Given the description of an element on the screen output the (x, y) to click on. 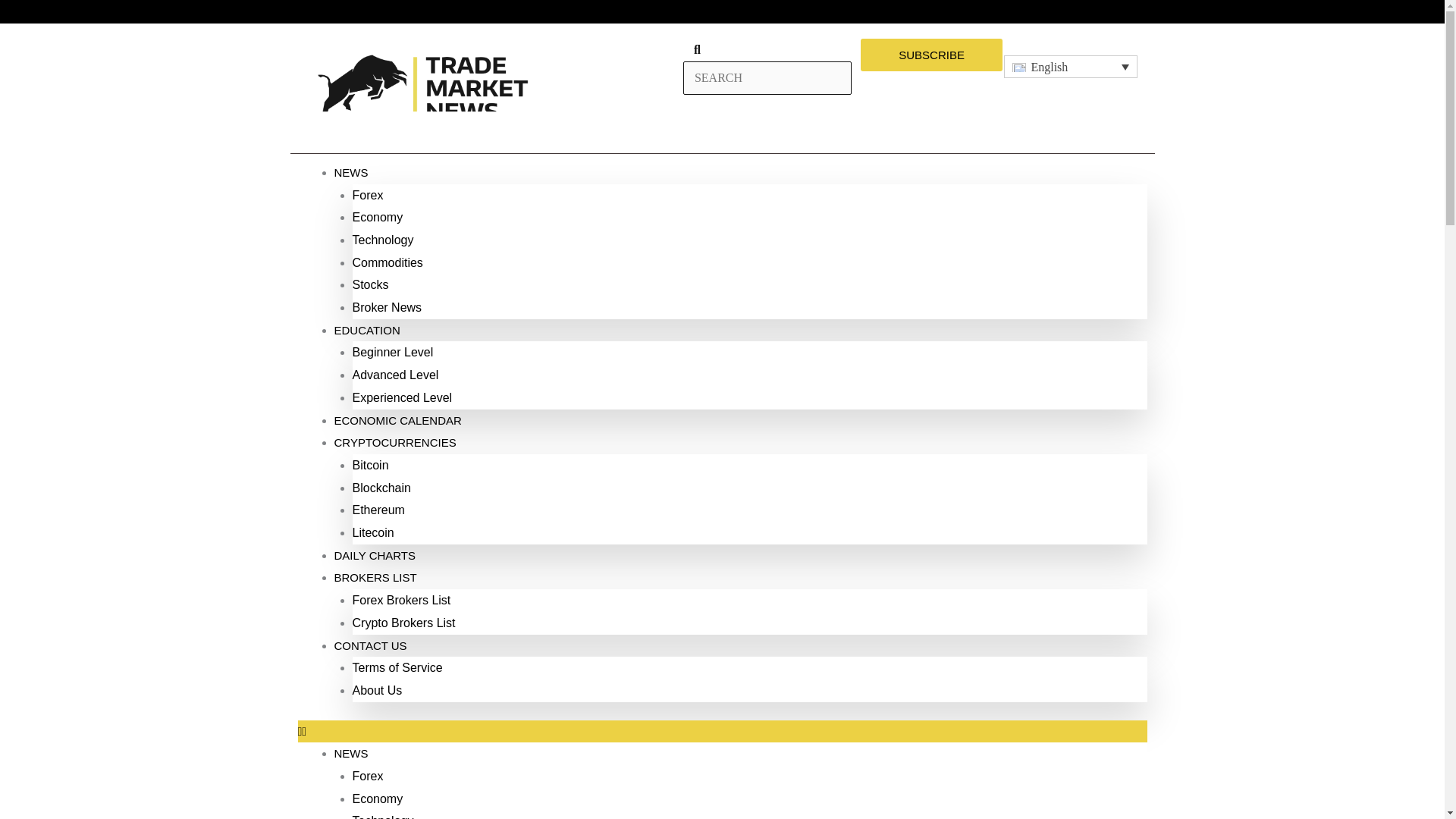
Litecoin (372, 532)
Terms of Service (397, 667)
Technology (382, 239)
NEWS (350, 753)
About Us (376, 689)
Ethereum (378, 509)
Technology (382, 816)
Commodities (387, 262)
Forex Brokers List (400, 599)
Broker News (387, 307)
